Given the description of an element on the screen output the (x, y) to click on. 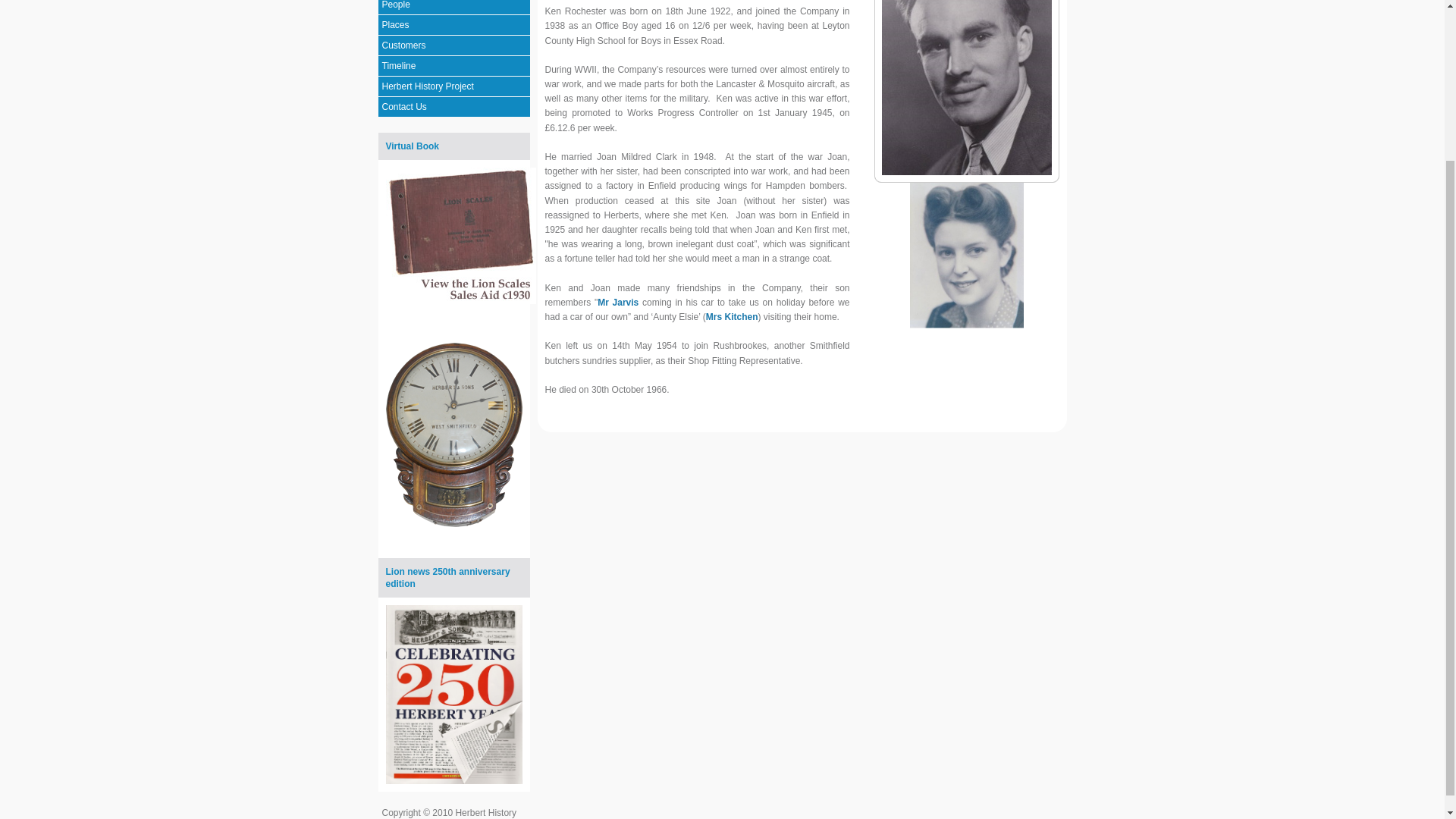
Customers (453, 46)
Places (453, 25)
People (453, 7)
Mrs Kitchen (732, 317)
Herbert History Project (453, 86)
Timeline (453, 66)
Contact Us (453, 107)
Mr Jarvis (617, 302)
